Given the description of an element on the screen output the (x, y) to click on. 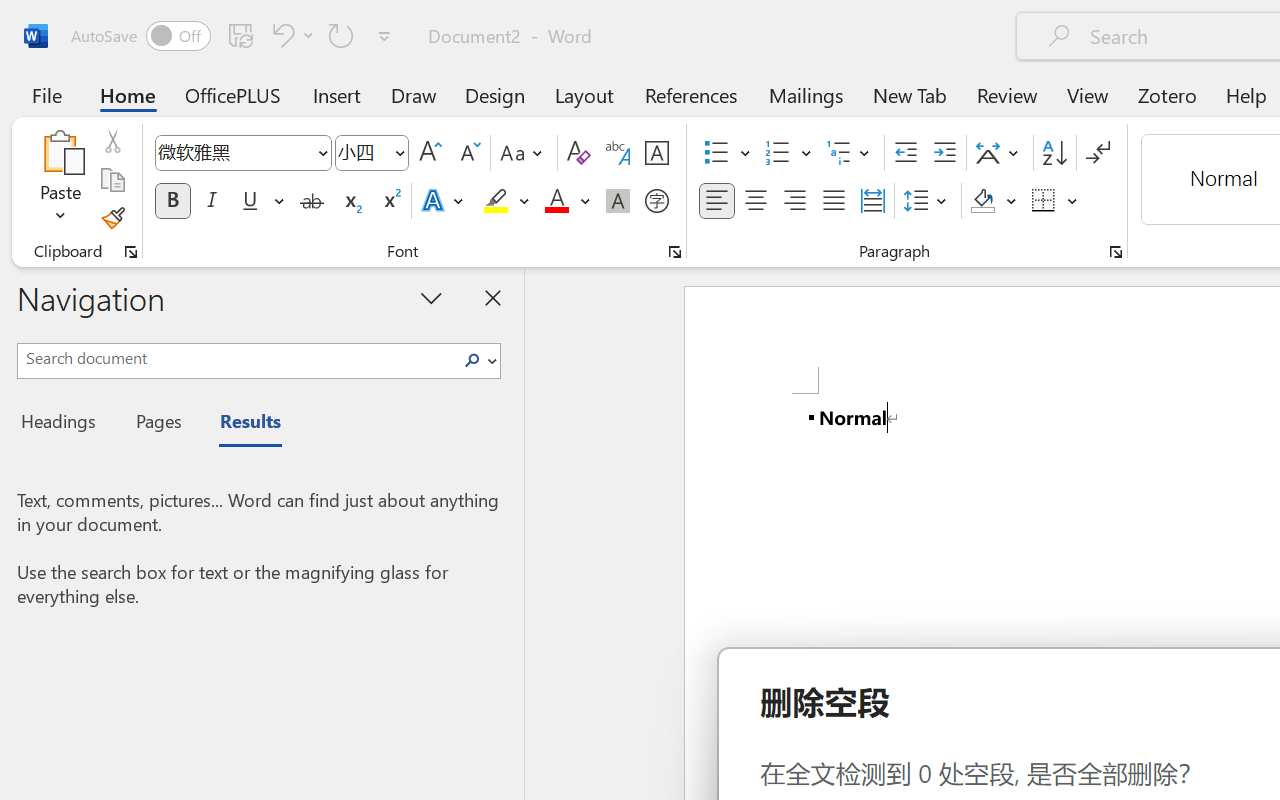
Paste (60, 151)
Superscript (390, 201)
Character Border (656, 153)
Copy (112, 179)
Justify (834, 201)
Font... (675, 252)
Layout (584, 94)
Search (478, 360)
Undo <ApplyStyleToDoc>b__0 (280, 35)
Headings (64, 424)
Bullets (716, 153)
AutoSave (140, 35)
Center (756, 201)
Search document (236, 358)
Increase Indent (944, 153)
